Given the description of an element on the screen output the (x, y) to click on. 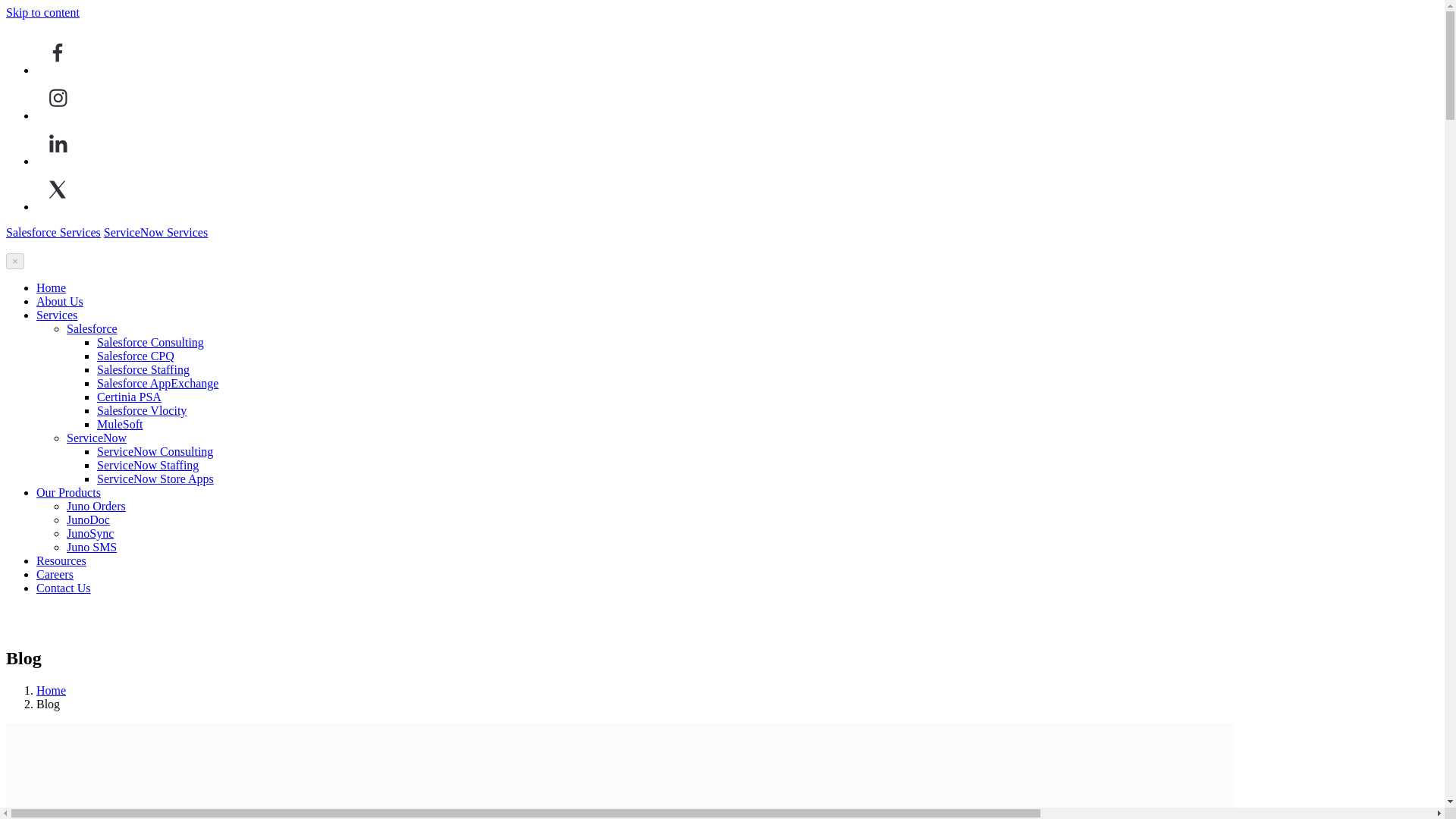
Salesforce Staffing (143, 369)
Contact Us (63, 587)
About Us (59, 300)
Our Products (68, 492)
ServiceNow Staffing (147, 464)
MuleSoft (119, 423)
Juno SMS (91, 546)
ServiceNow Services (155, 232)
ServiceNow Consulting (154, 451)
Careers (55, 574)
Home (50, 287)
Salesforce Services (52, 232)
Salesforce AppExchange (157, 382)
Resources (60, 560)
Home (50, 689)
